Given the description of an element on the screen output the (x, y) to click on. 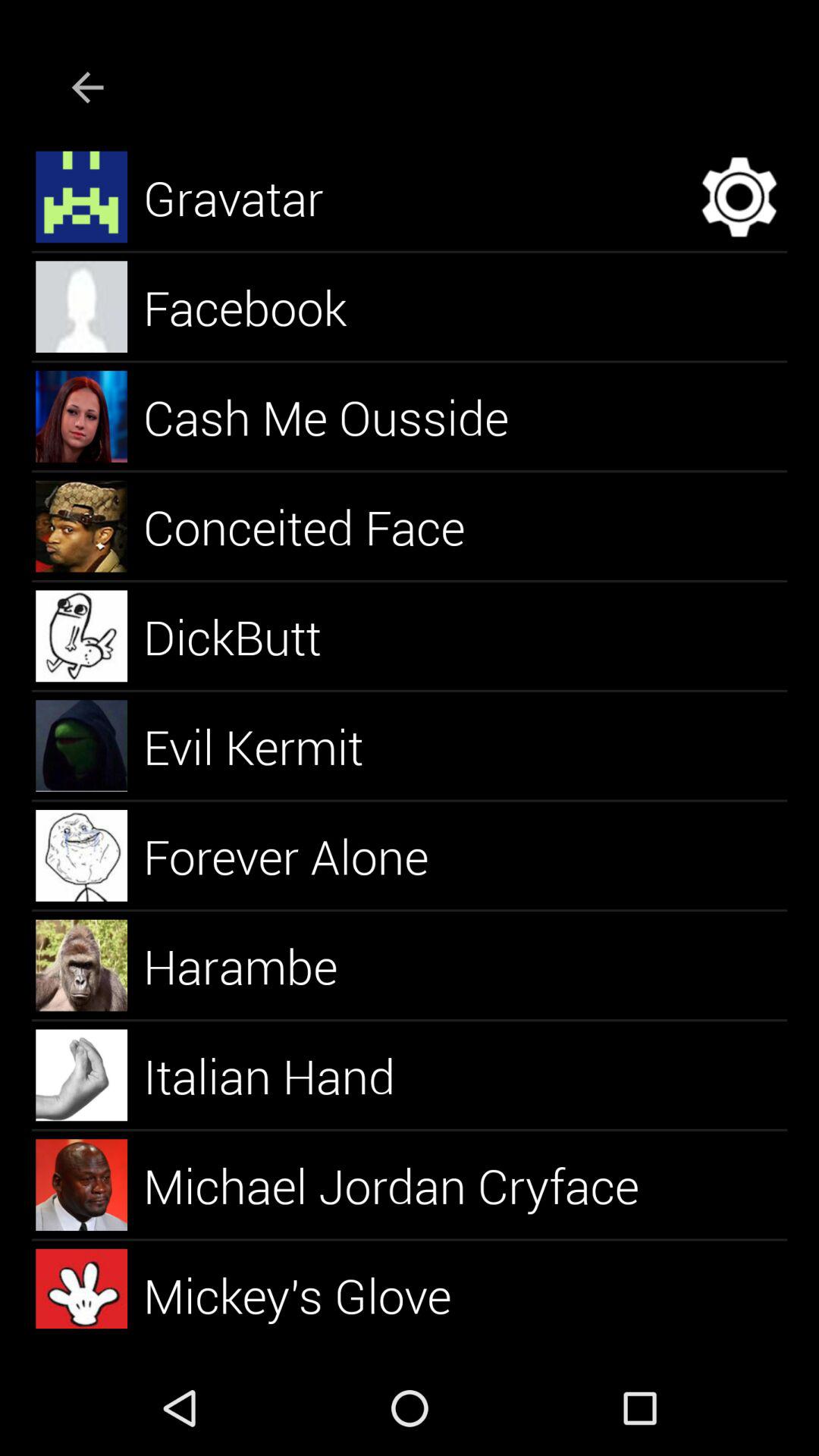
jump to conceited face icon (321, 525)
